Given the description of an element on the screen output the (x, y) to click on. 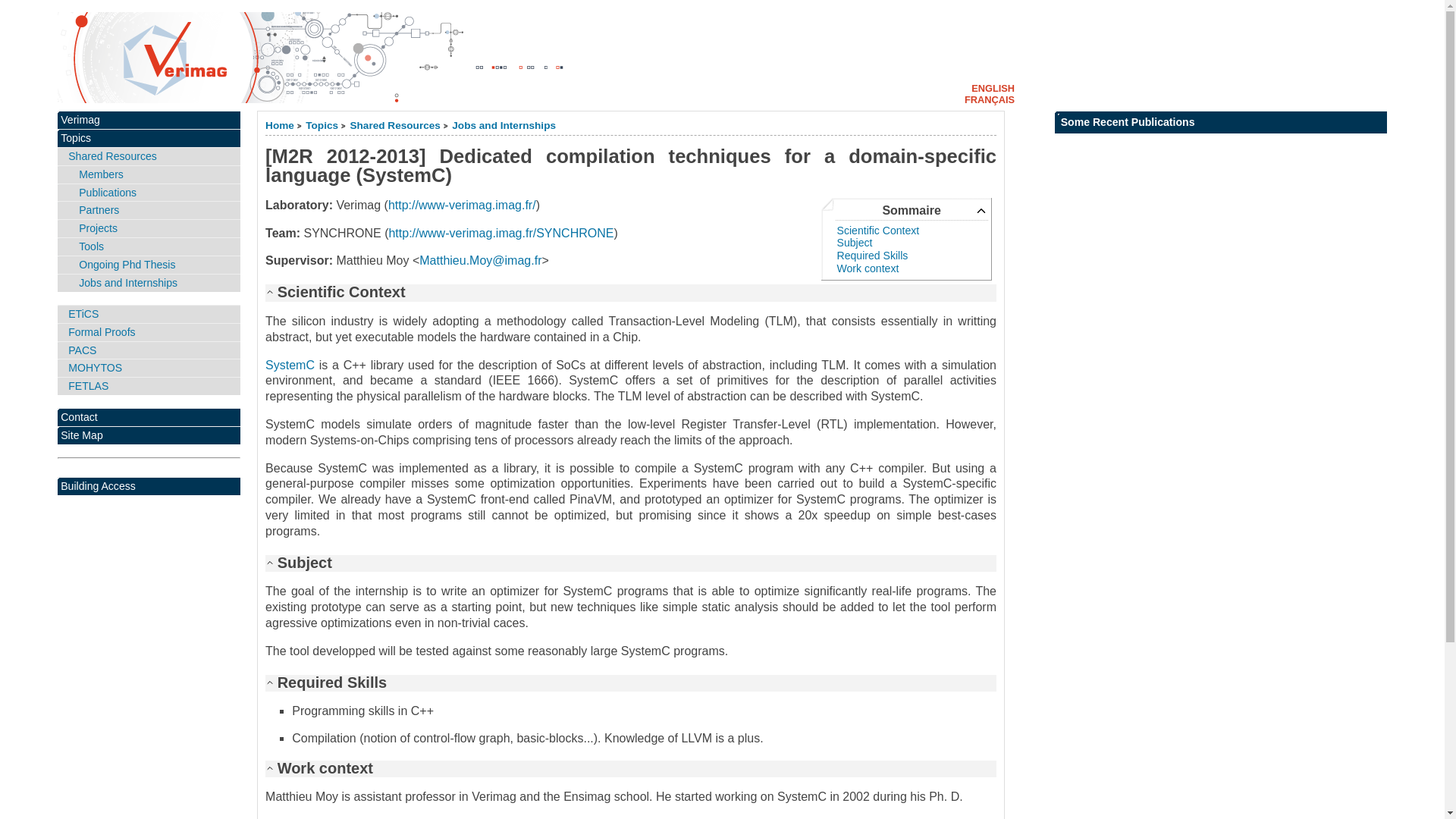
Site Map (149, 435)
Verimag (149, 119)
Projects (149, 228)
Formal Proofs for Systems and Software (149, 332)
Required Skills (872, 255)
Some Recent Publications (1221, 122)
Foundations for Engineering Trustworthy (149, 385)
Subject (854, 242)
Work context (868, 268)
Partners (149, 210)
Formal Proofs (149, 332)
Scientific Context (878, 230)
Subject (854, 242)
Home : Verimag (279, 125)
FETLAS (149, 385)
